Given the description of an element on the screen output the (x, y) to click on. 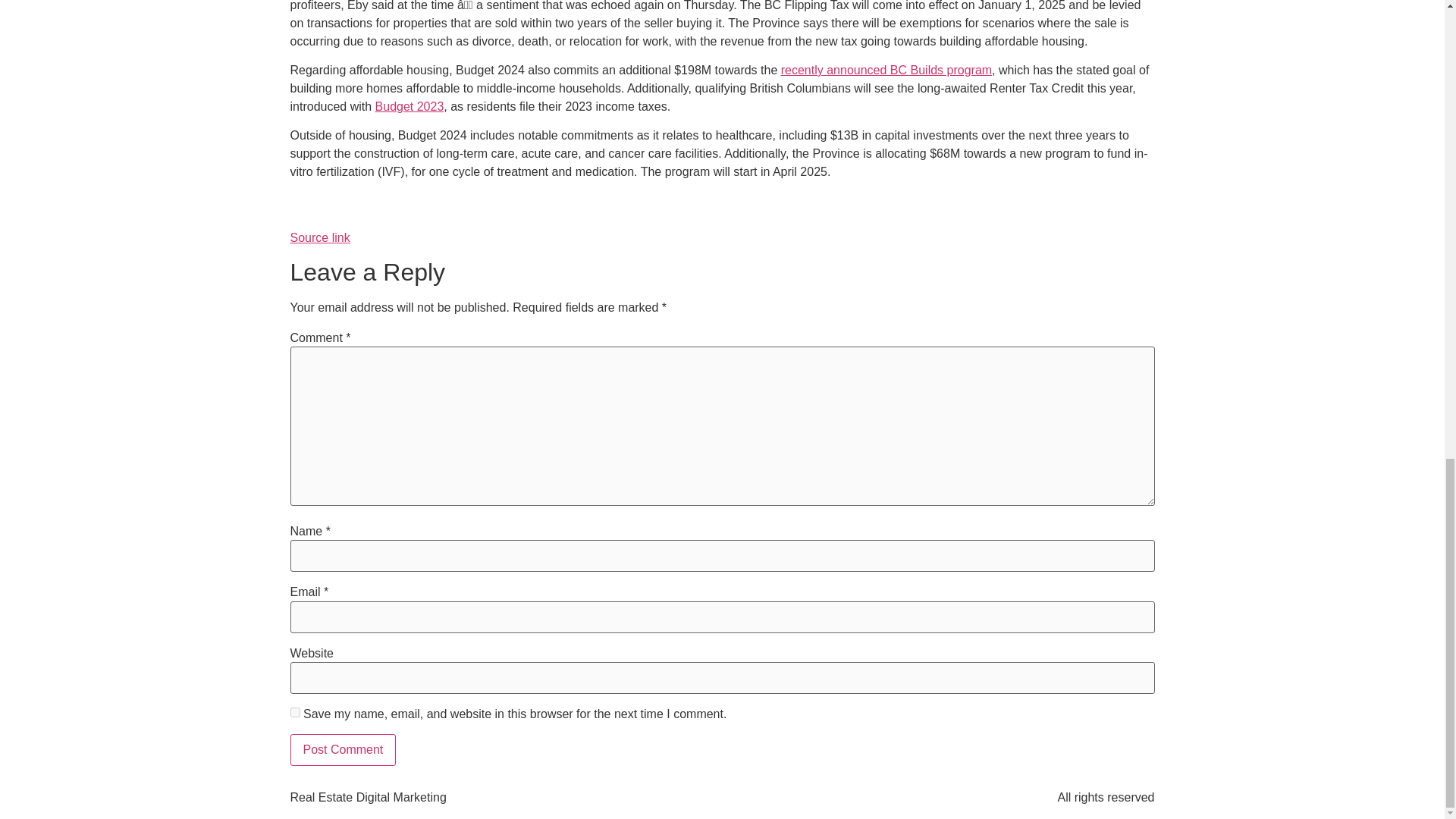
recently announced BC Builds program (885, 69)
Source link (319, 237)
yes (294, 712)
Post Comment (342, 749)
Budget 2023 (409, 106)
Post Comment (342, 749)
